Given the description of an element on the screen output the (x, y) to click on. 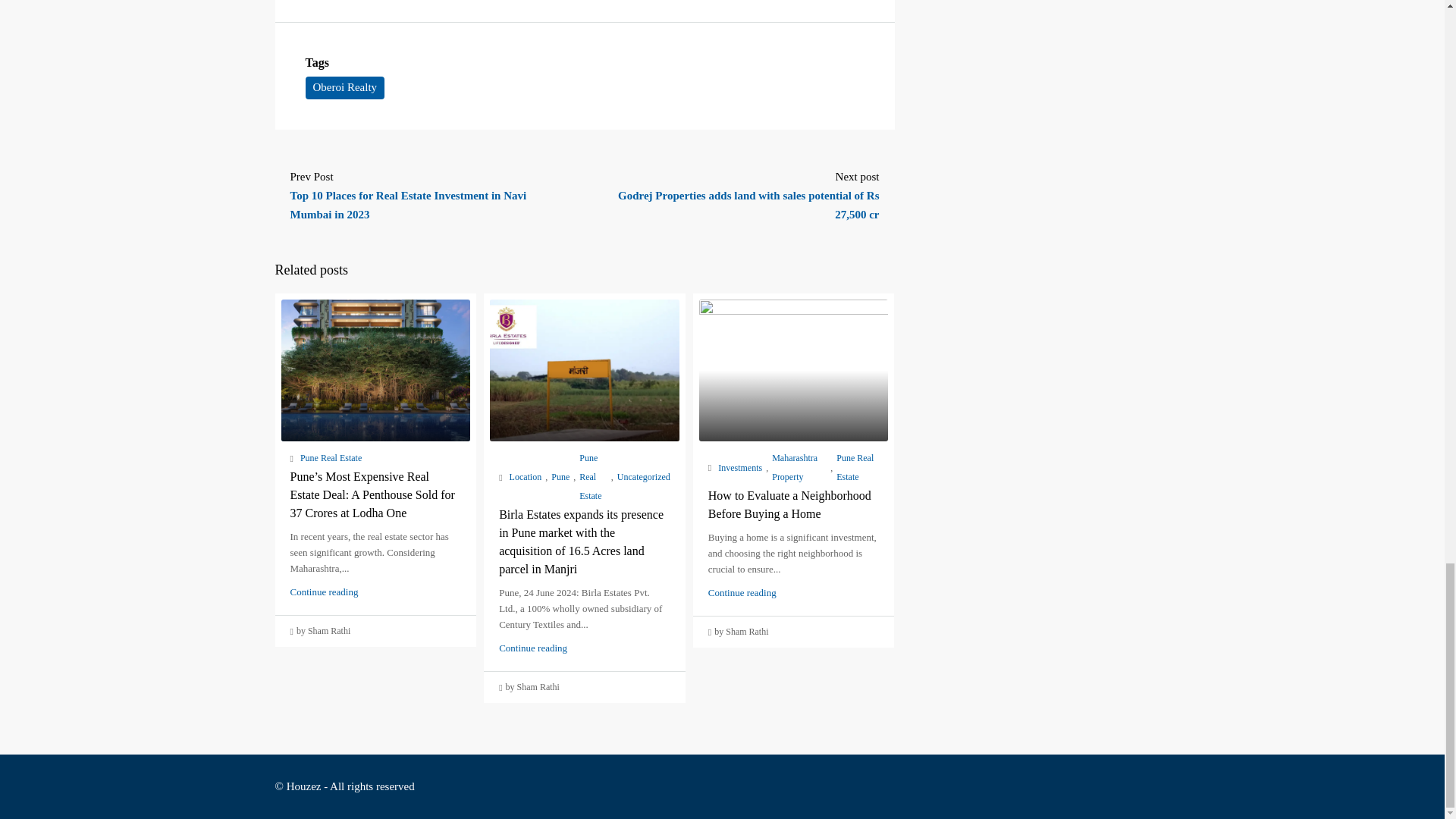
Investments (739, 467)
Pune Real Estate (593, 477)
Continue reading (323, 591)
Maharashtra Property (799, 467)
Pune Real Estate (857, 467)
Uncategorized (643, 476)
Pune (560, 476)
Pune Real Estate (330, 457)
Location (525, 476)
Oberoi Realty (344, 87)
Continue reading (533, 647)
